Given the description of an element on the screen output the (x, y) to click on. 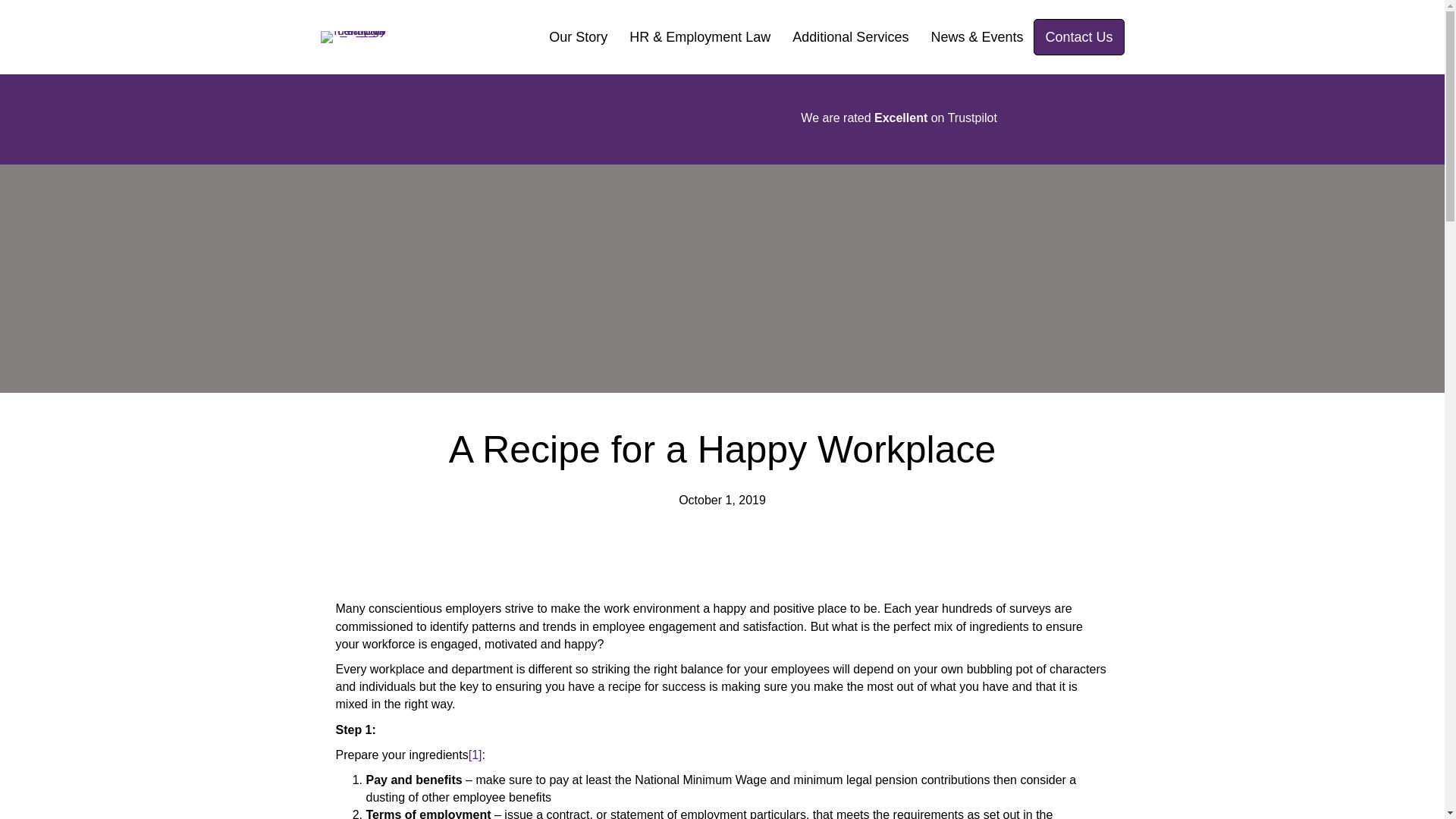
Our Story (577, 36)
Additional Services (849, 36)
Contact Us (1077, 36)
Trustpilot (1389, 113)
Trustpilot (972, 117)
